Given the description of an element on the screen output the (x, y) to click on. 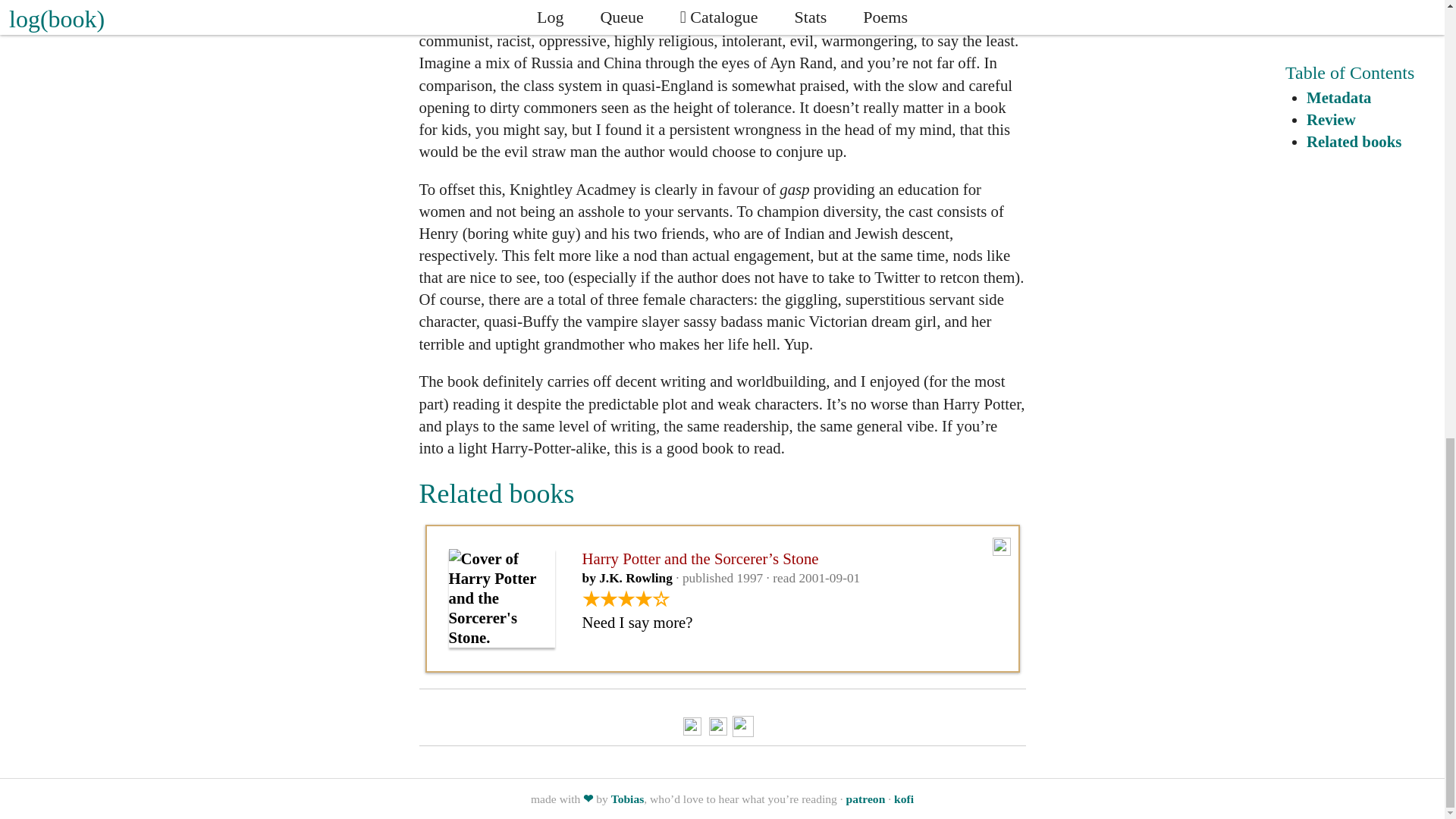
kofi (903, 798)
patreon (865, 798)
Tobias (628, 798)
